Given the description of an element on the screen output the (x, y) to click on. 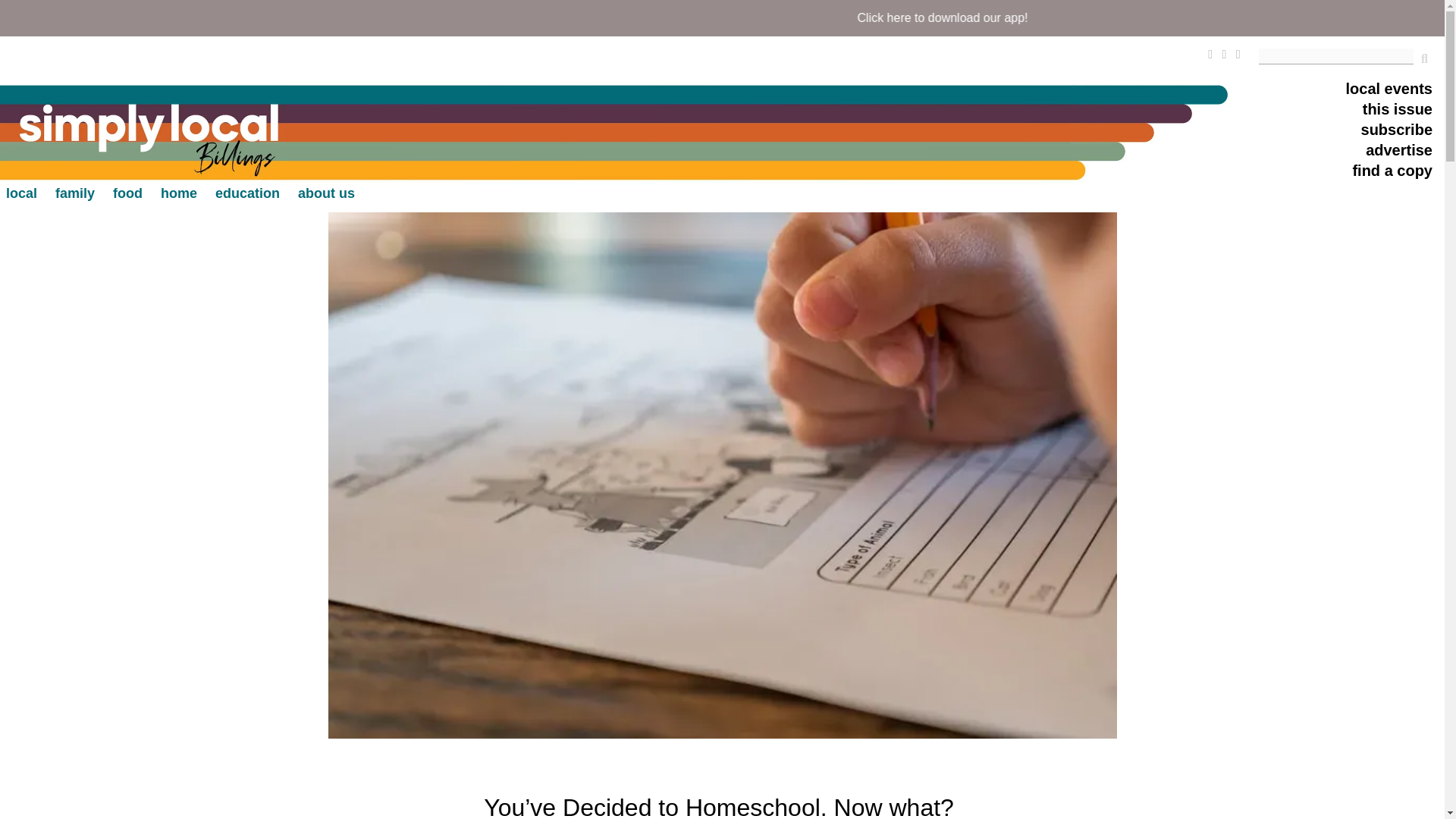
education (247, 192)
food (127, 192)
find a copy (1392, 172)
local (21, 192)
advertise (1398, 151)
family (74, 192)
about us (326, 192)
subscribe (1396, 131)
this issue (1397, 110)
local events (1388, 90)
home (178, 192)
